Given the description of an element on the screen output the (x, y) to click on. 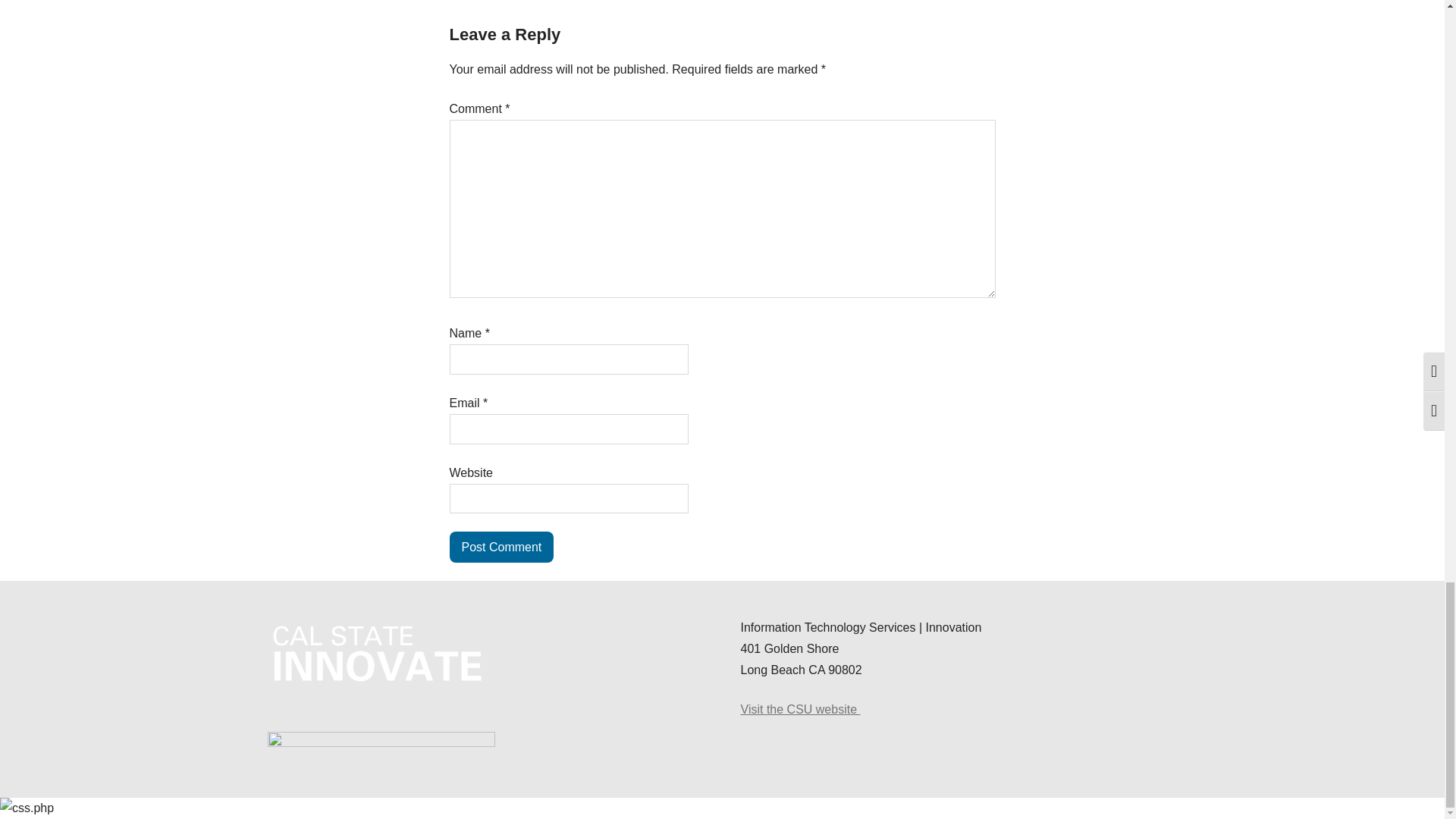
Post Comment (500, 546)
